Given the description of an element on the screen output the (x, y) to click on. 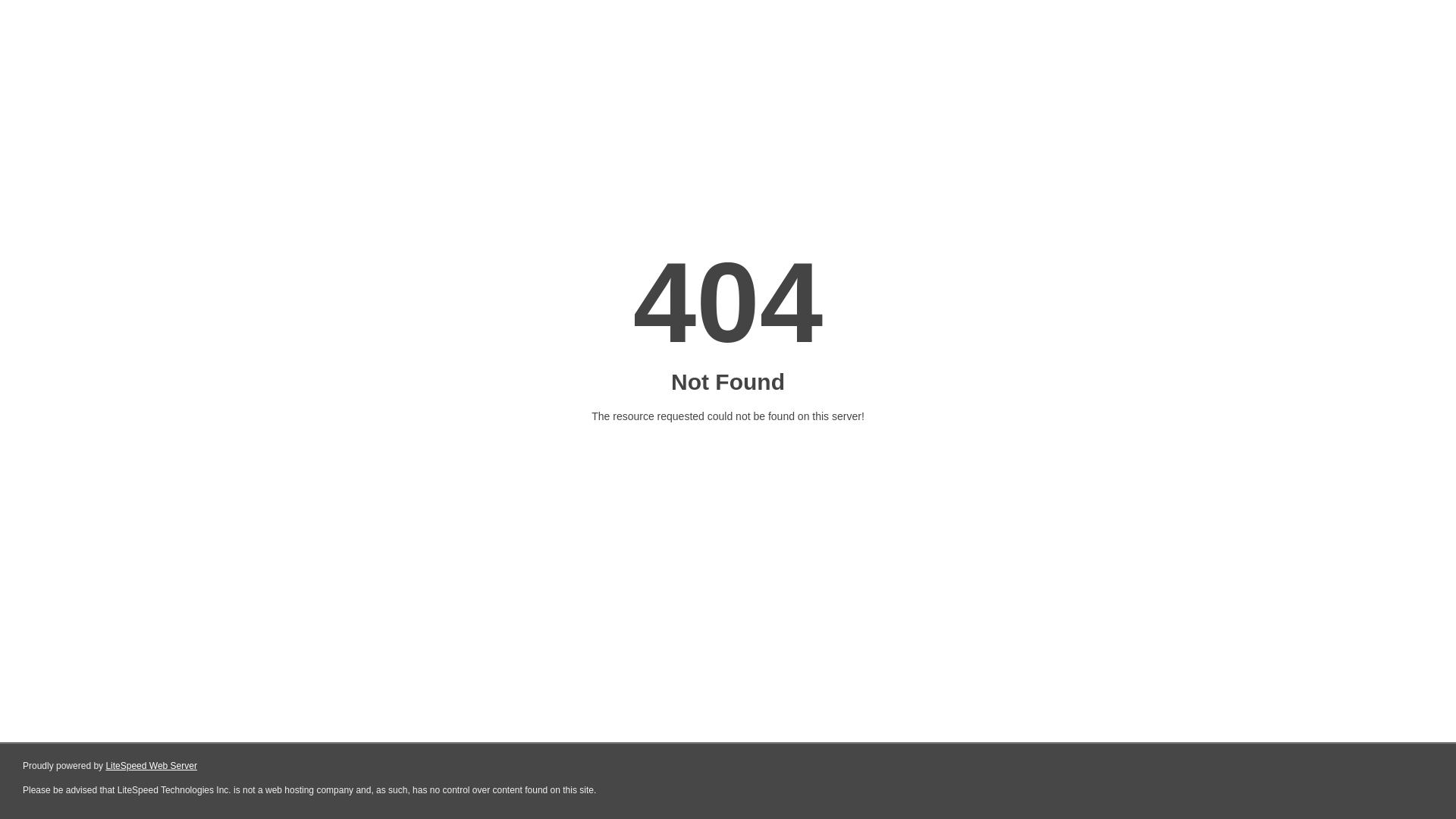
LiteSpeed Web Server Element type: text (151, 765)
